Given the description of an element on the screen output the (x, y) to click on. 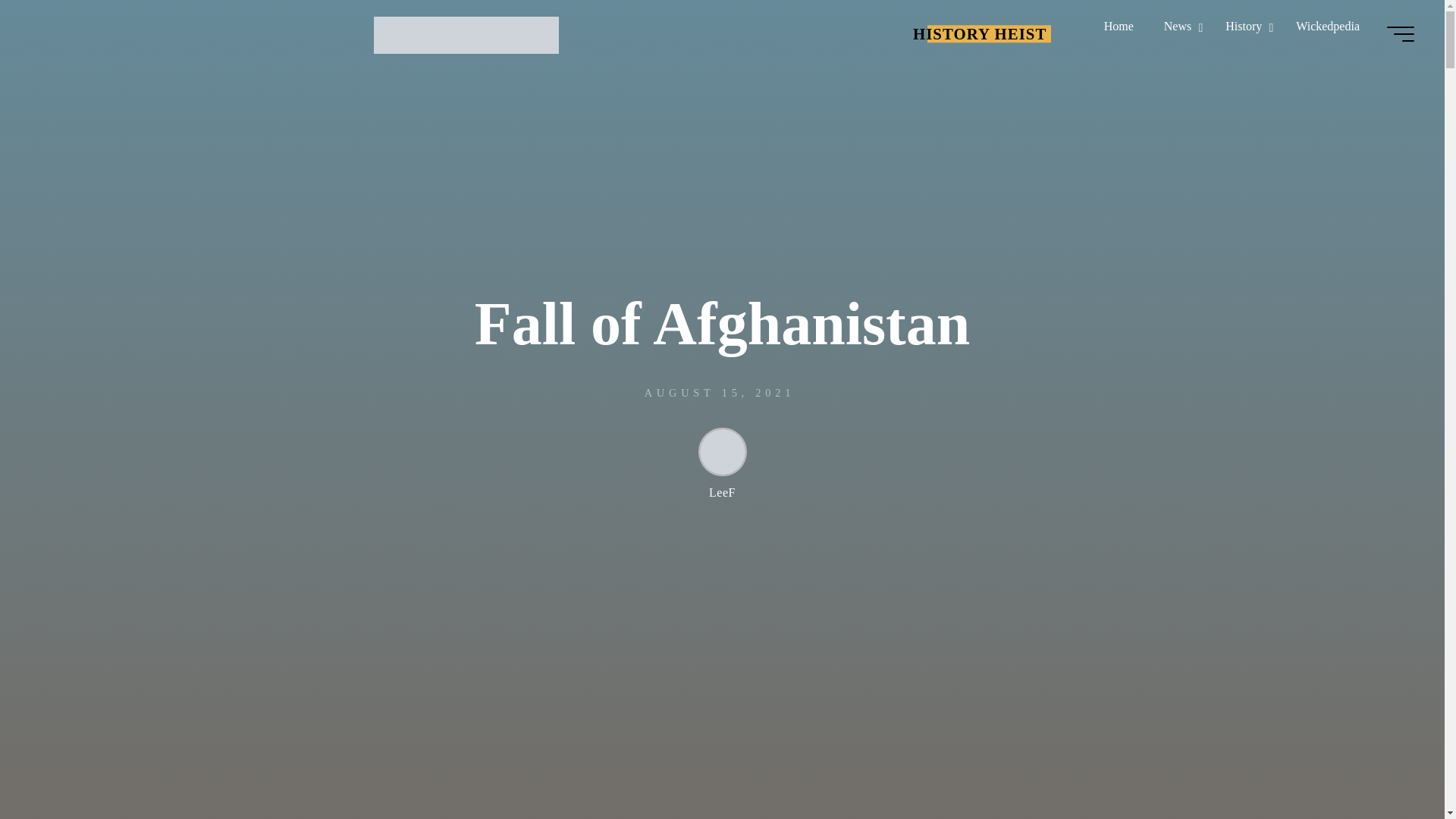
Taking Back Our Stolen History (979, 33)
Read more (721, 724)
HISTORY HEIST (466, 33)
